Given the description of an element on the screen output the (x, y) to click on. 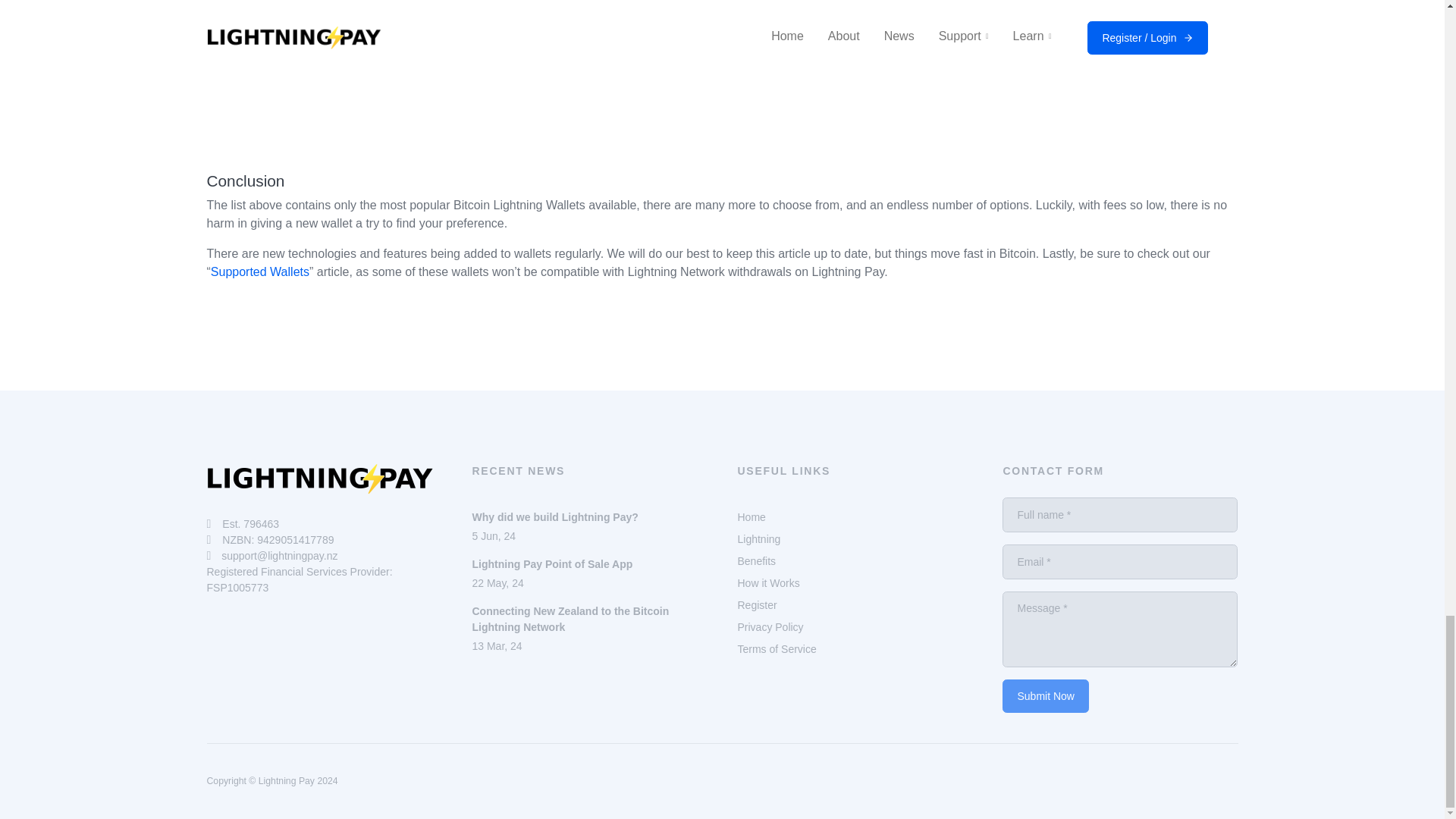
Home (750, 517)
Privacy Policy (769, 626)
Supported Wallets (259, 271)
Benefits (756, 561)
Submit Now (588, 572)
Submit Now (1045, 695)
Lightning (1045, 695)
